Given the description of an element on the screen output the (x, y) to click on. 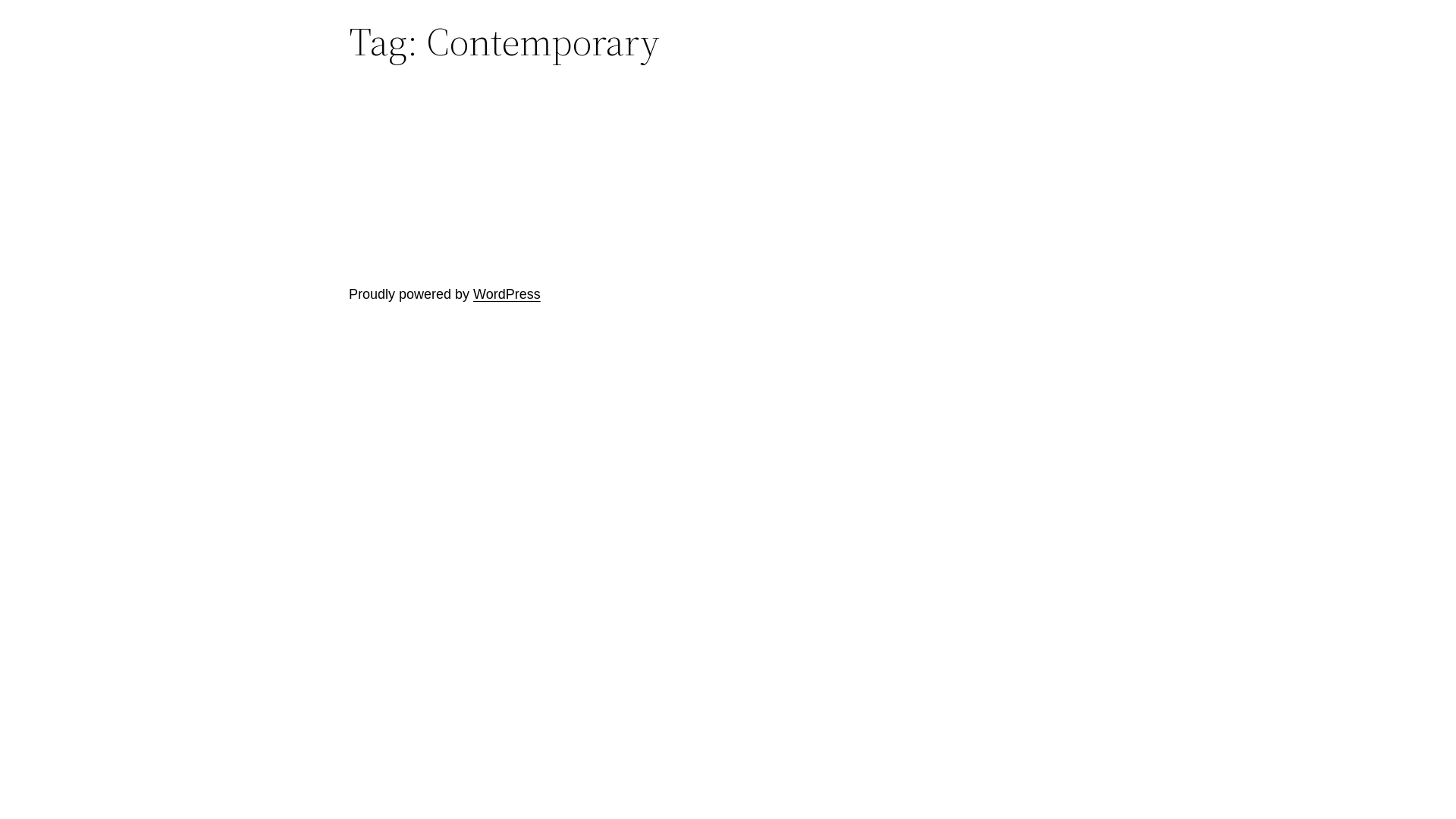
WordPress Element type: text (506, 293)
